Given the description of an element on the screen output the (x, y) to click on. 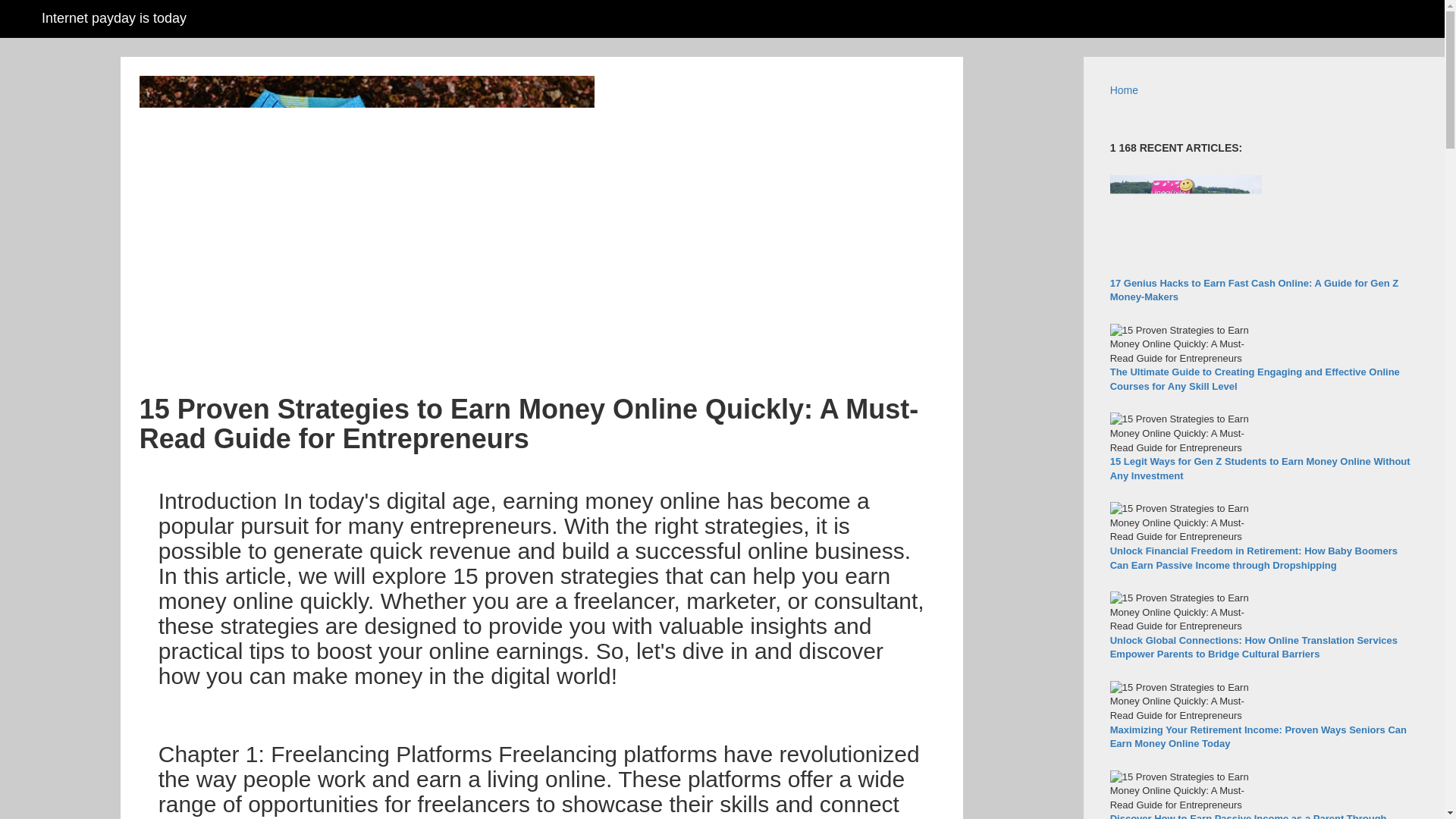
Home (1123, 90)
